Given the description of an element on the screen output the (x, y) to click on. 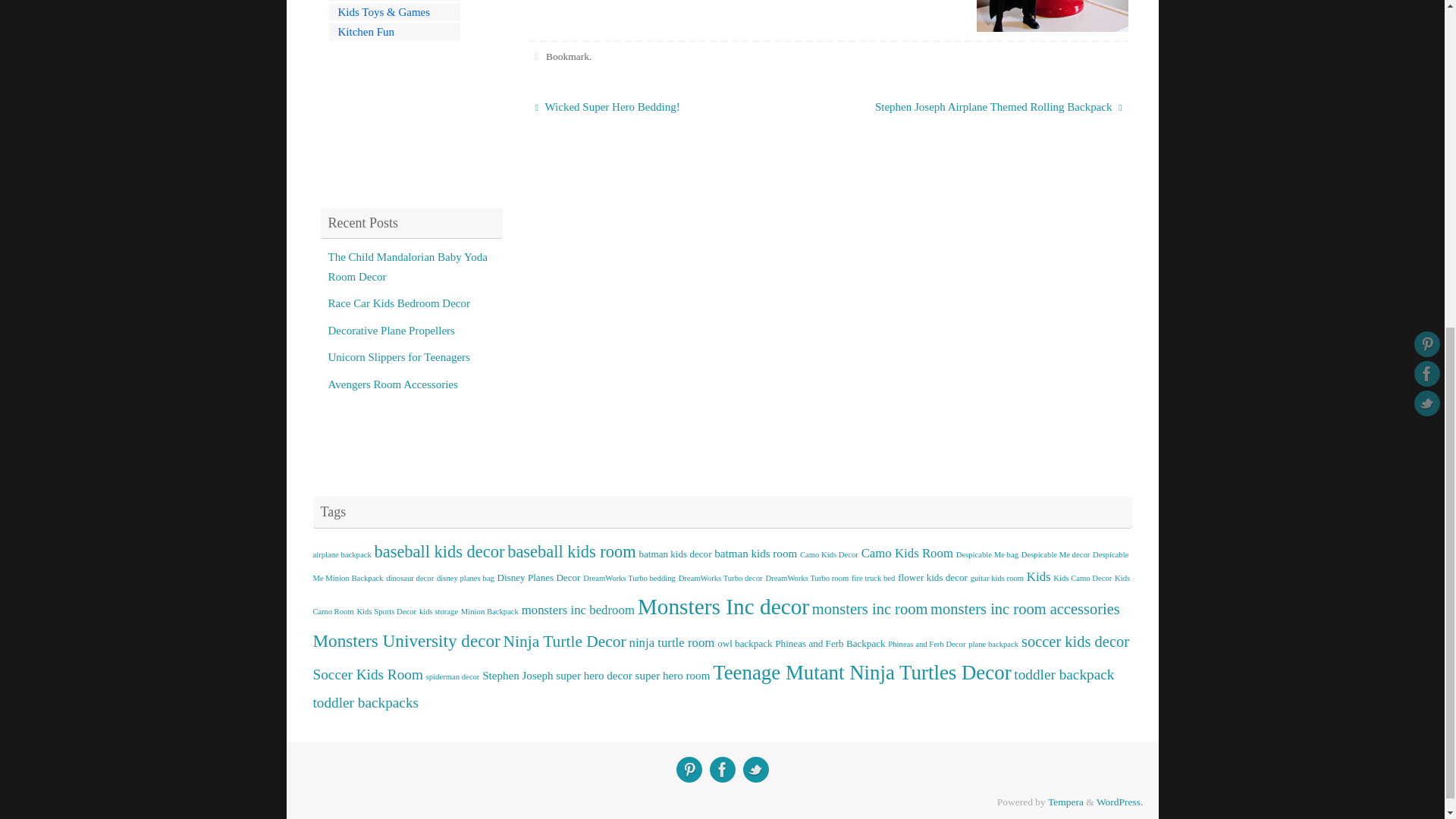
Stephen Joseph Airplane Themed Rolling Backpack (985, 107)
Wicked Super Hero Bedding! (669, 107)
Bookmark (567, 56)
